Given the description of an element on the screen output the (x, y) to click on. 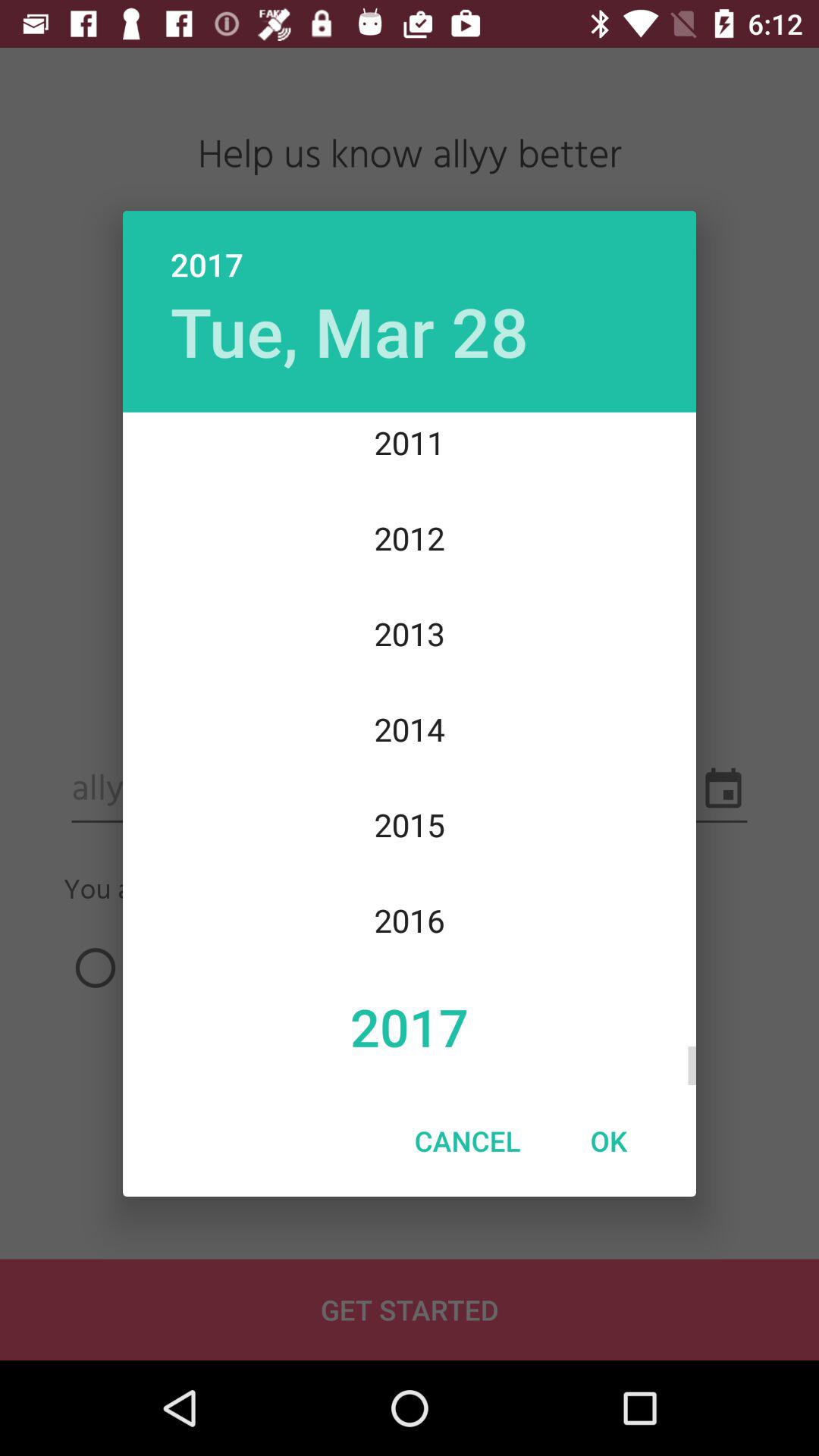
flip to ok (608, 1140)
